Given the description of an element on the screen output the (x, y) to click on. 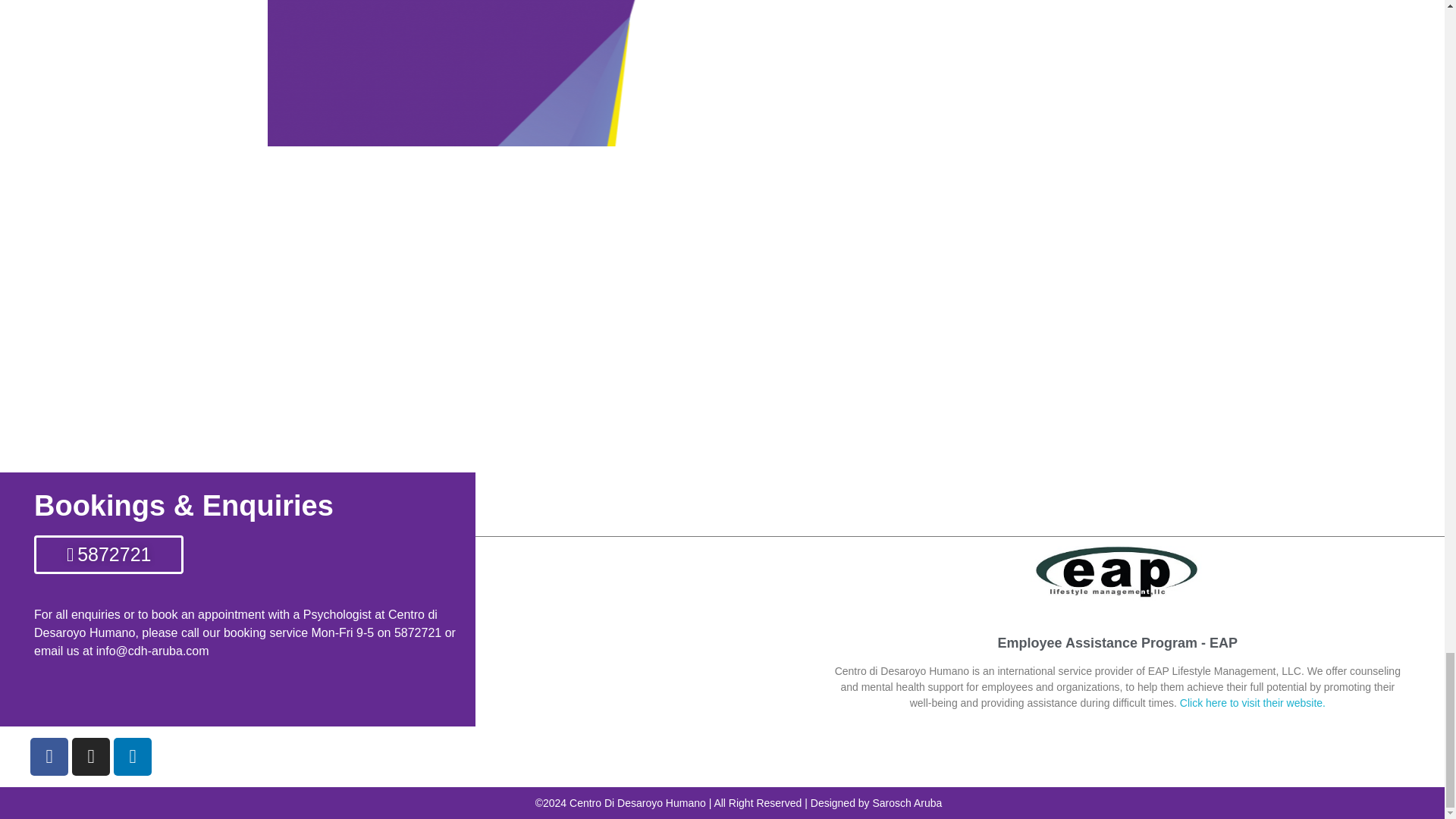
Designed by Sarosch Aruba (876, 802)
5872721 (108, 554)
Click here to visit their website. (1251, 702)
Employee Assistance Program - EAP (1117, 642)
